Given the description of an element on the screen output the (x, y) to click on. 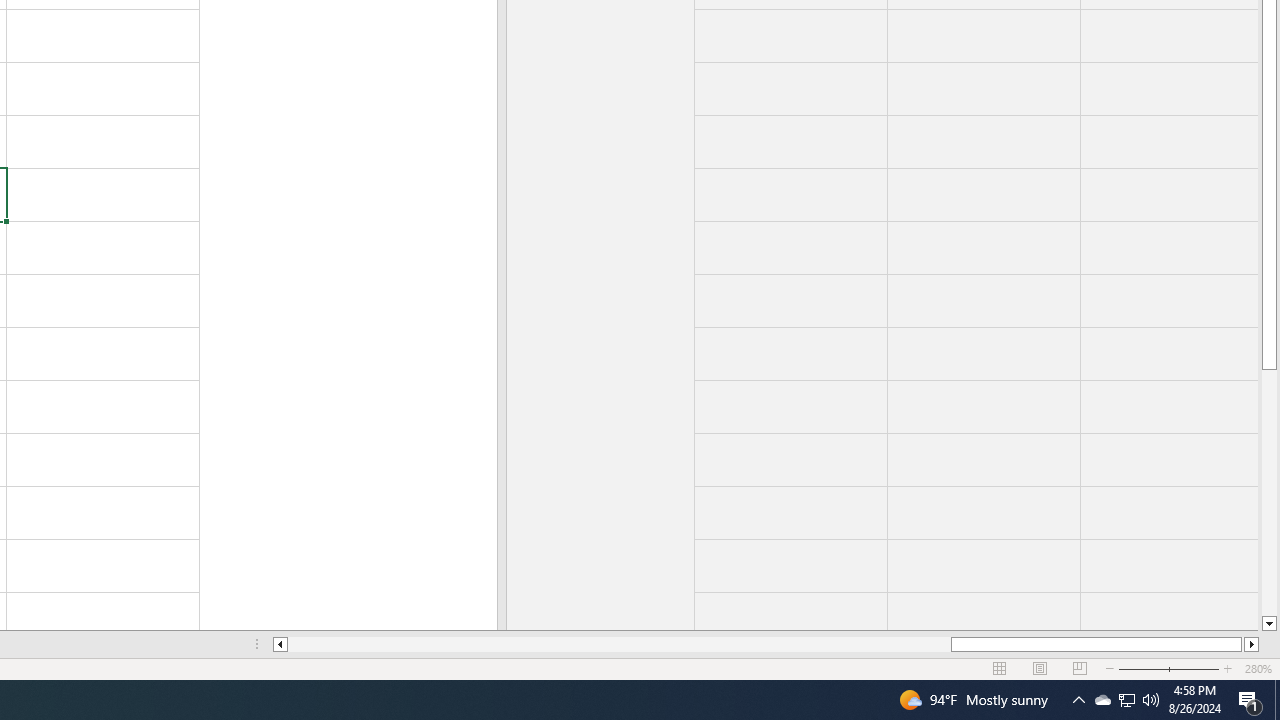
Zoom Out (1156, 668)
Page Break Preview (1079, 668)
Line down (1268, 624)
Page down (1268, 493)
Class: NetUIScrollBar (765, 644)
Normal (1000, 668)
Column left (279, 644)
Column right (1252, 644)
Zoom (1168, 668)
Zoom In (1227, 668)
Page Layout (1039, 668)
Page left (619, 644)
